Given the description of an element on the screen output the (x, y) to click on. 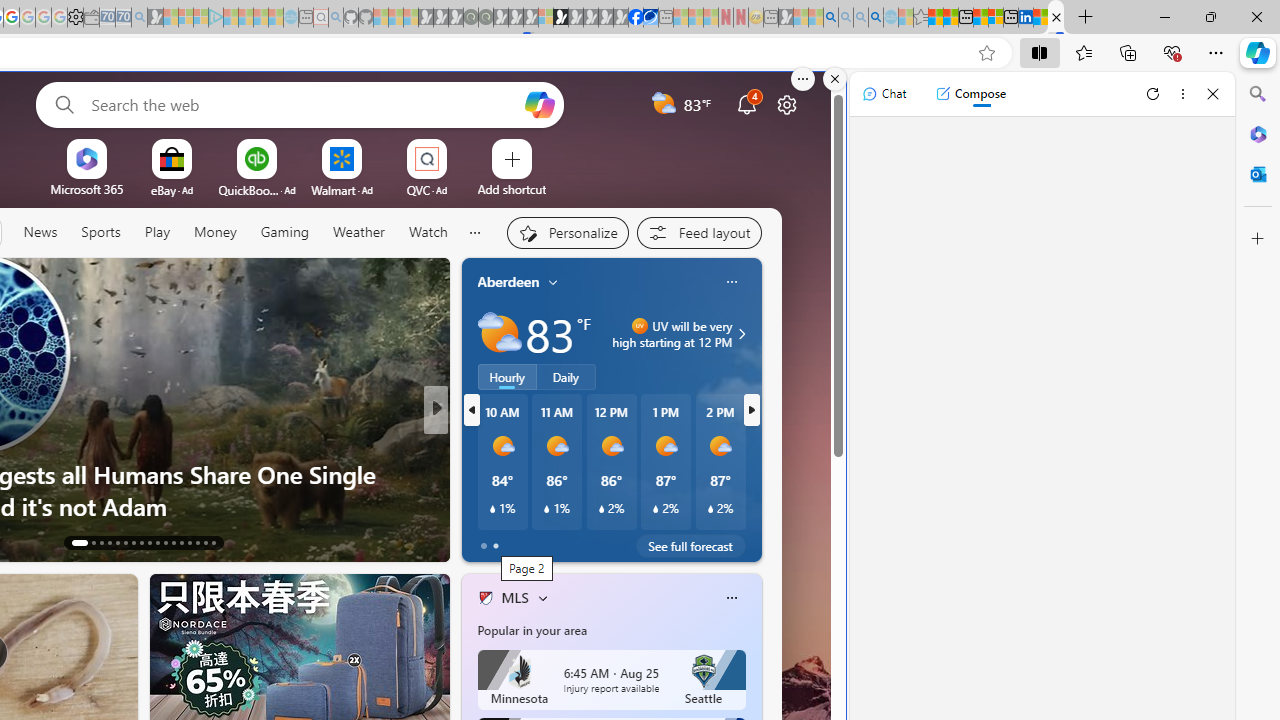
AutomationID: tab-13 (73, 542)
Future Focus Report 2024 - Sleeping (485, 17)
More options. (803, 79)
Creatures Found at the Bottom of the Mississippi River (758, 489)
Body Network (477, 473)
LendingTree (501, 442)
Enter your search term (303, 104)
